Given the description of an element on the screen output the (x, y) to click on. 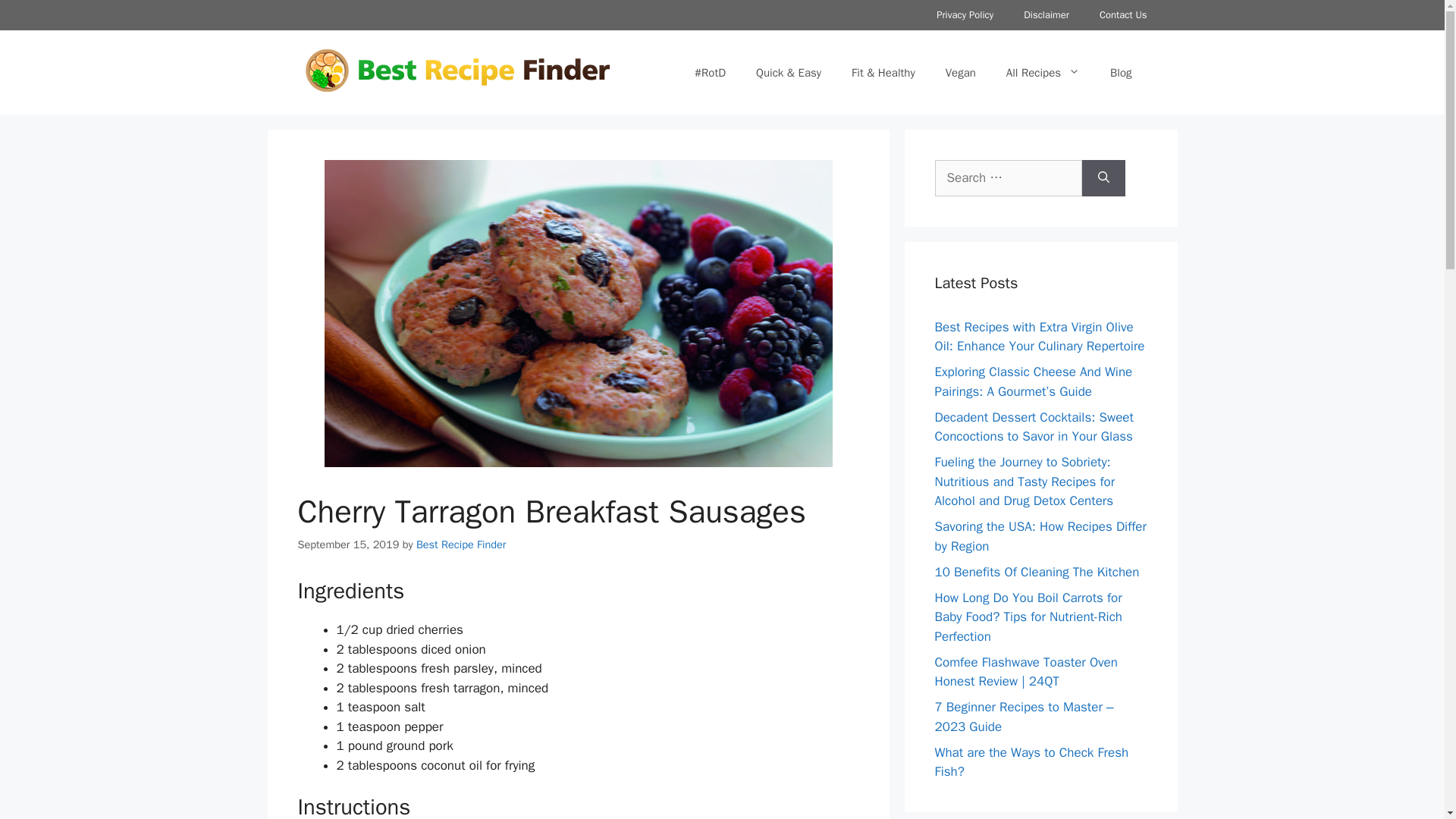
Recipe of the Day (710, 72)
Blog (1120, 72)
Best Recipe Finder Blog (1120, 72)
Best Recipe Finder (461, 544)
Vegan (960, 72)
Vegan Recipes (960, 72)
Disclaimer (1046, 15)
View all posts by Best Recipe Finder (461, 544)
Contact Us (1122, 15)
All Recipes (1042, 72)
Privacy Policy (965, 15)
